Given the description of an element on the screen output the (x, y) to click on. 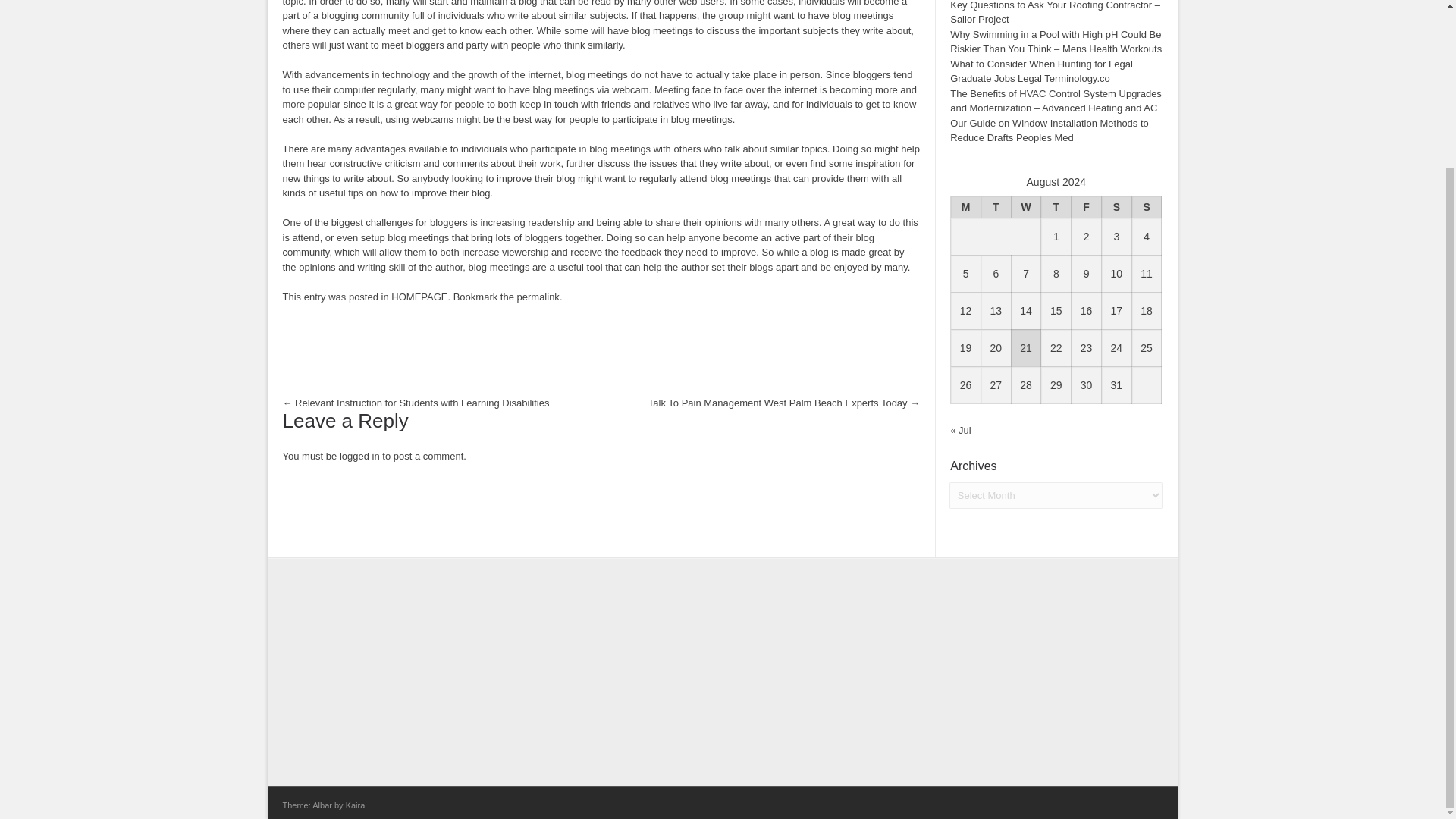
21 (1026, 347)
Kaira (355, 804)
12 (965, 310)
15 (1055, 310)
Friday (1086, 206)
logged in (359, 455)
Saturday (1115, 206)
Thursday (1056, 206)
HOMEPAGE (418, 296)
